Given the description of an element on the screen output the (x, y) to click on. 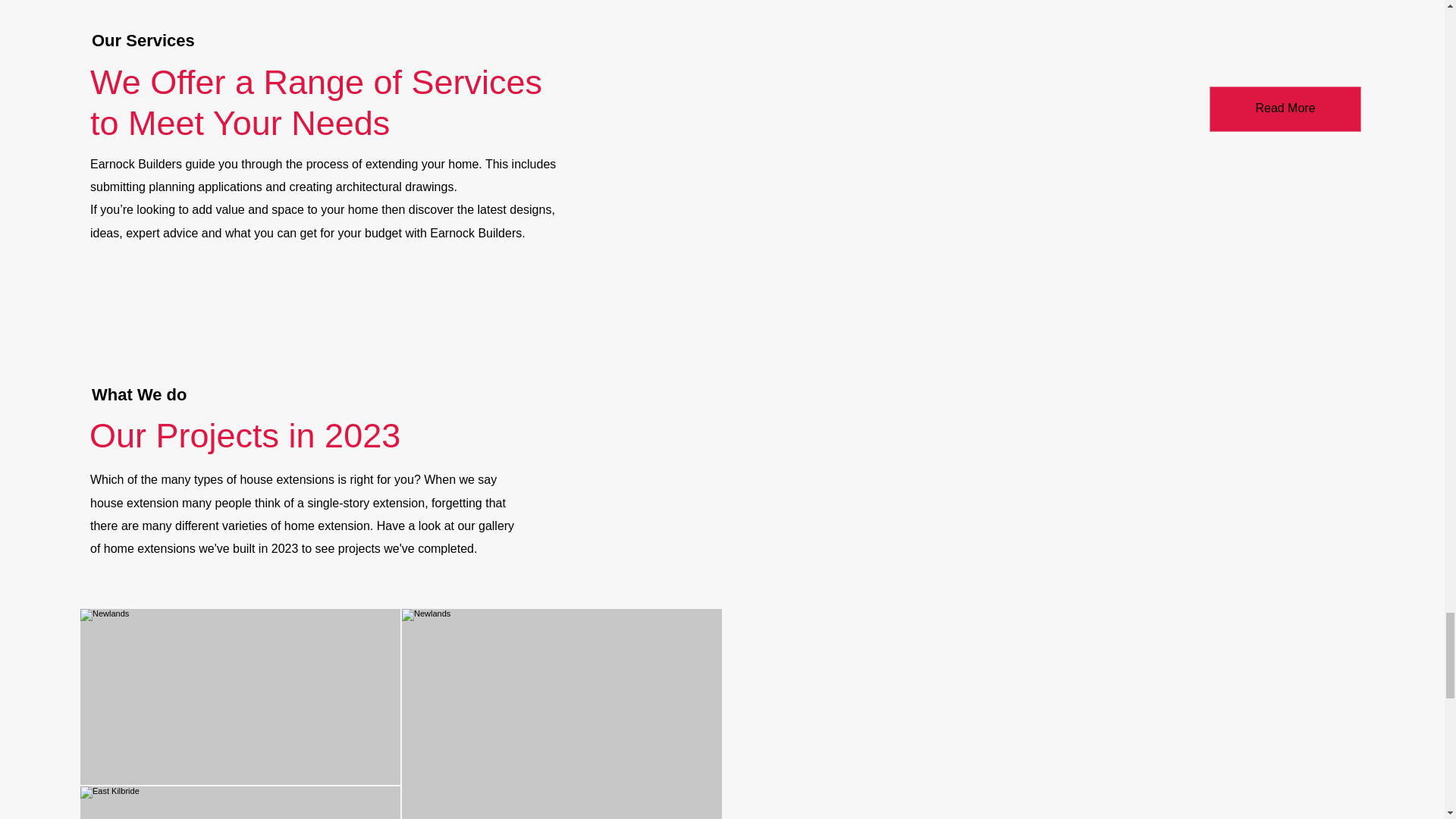
Read More (1285, 108)
